Given the description of an element on the screen output the (x, y) to click on. 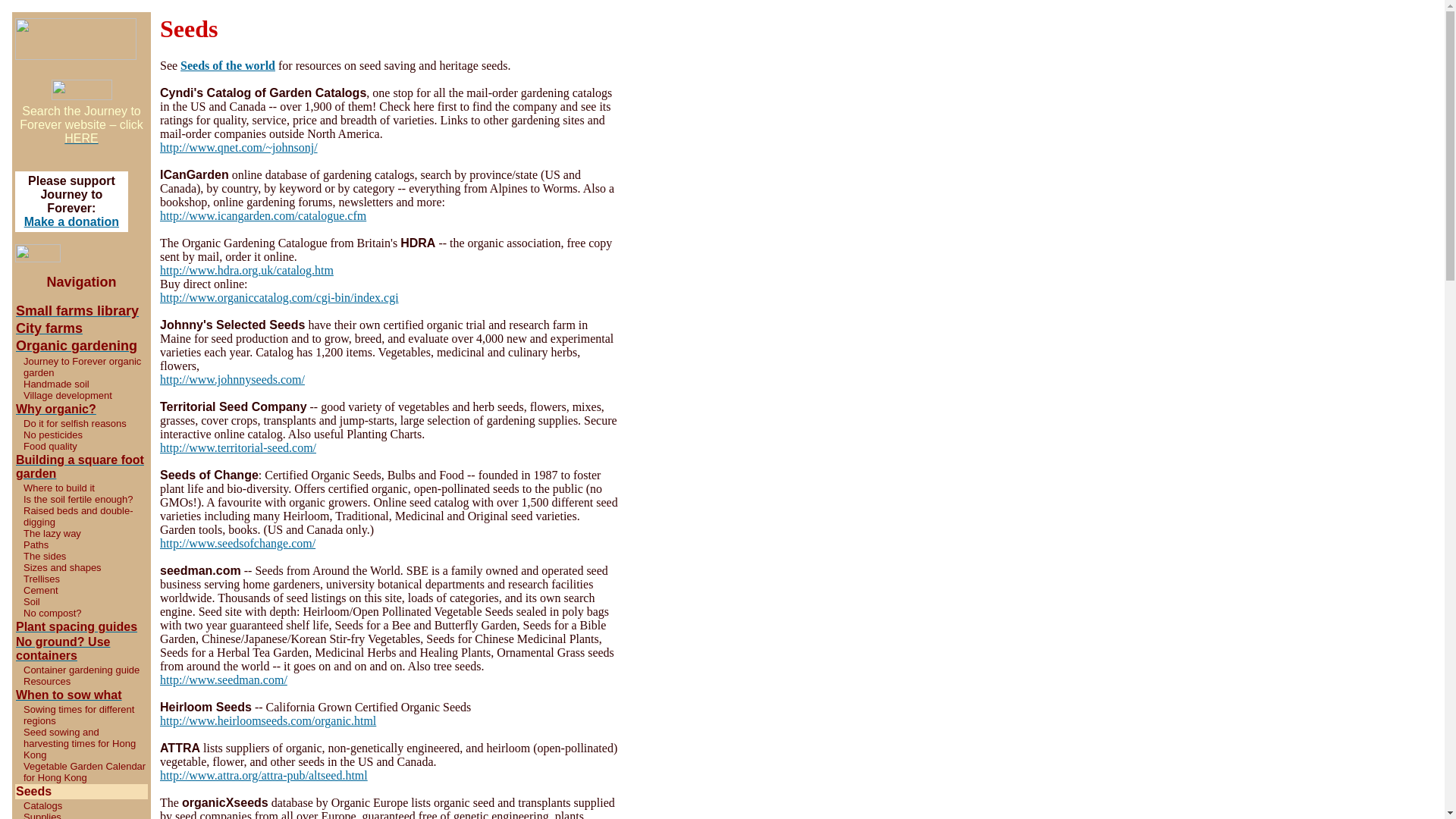
Plant spacing guides (76, 626)
Building a square foot garden (80, 466)
Make a donation (71, 221)
Small farms library (77, 310)
Organic gardening (76, 345)
When to sow what (69, 694)
No ground? Use containers (63, 648)
City farms (49, 328)
HERE (80, 144)
Why organic? (56, 408)
